Given the description of an element on the screen output the (x, y) to click on. 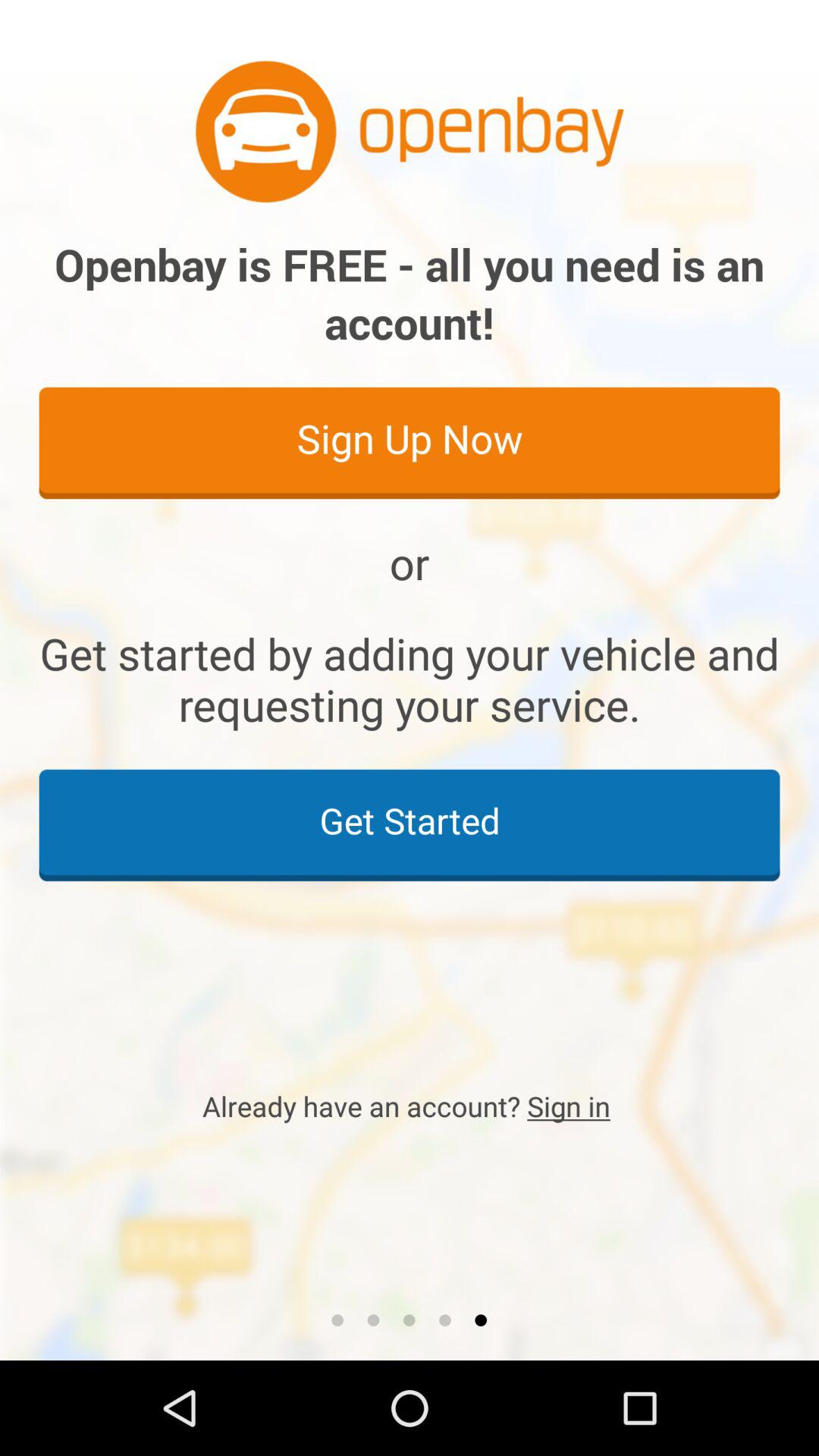
click item below openbay is free icon (409, 442)
